Given the description of an element on the screen output the (x, y) to click on. 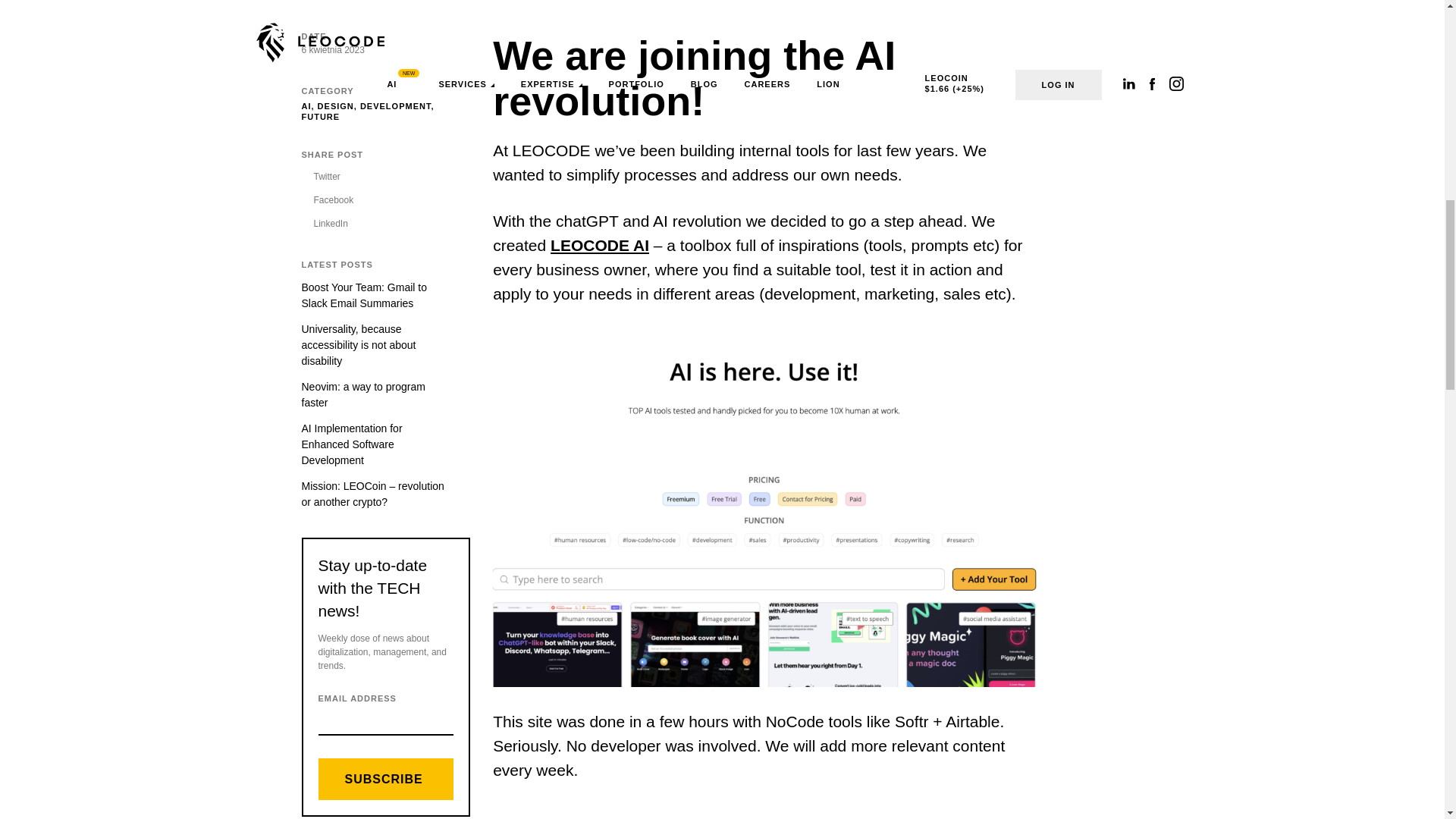
Neovim: a way to program faster (374, 395)
Universality, because accessibility is not about disability (374, 345)
LEOCODE AI (599, 244)
Boost Your Team: Gmail to Slack Email Summaries (374, 296)
AI Implementation for Enhanced Software Development (374, 444)
Subscribe  (386, 779)
Subscribe  (386, 779)
